Given the description of an element on the screen output the (x, y) to click on. 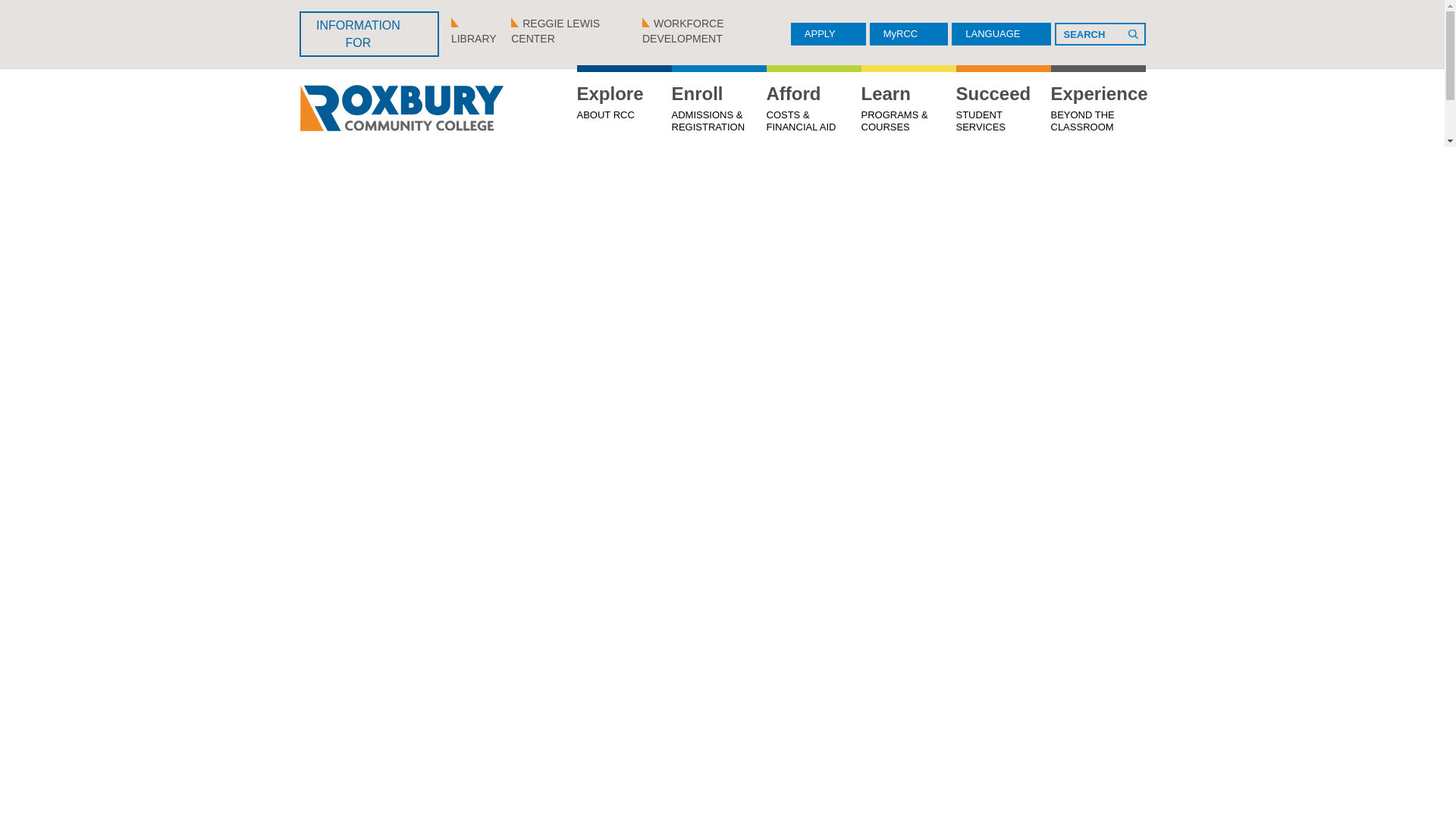
site logo (400, 107)
APPLY (828, 33)
WORKFORCE DEVELOPMENT (716, 30)
MyRCC (909, 33)
LANGUAGE (1000, 33)
INFORMATION FOR (623, 107)
REGGIE LEWIS CENTER (368, 33)
LIBRARY (572, 30)
